Given the description of an element on the screen output the (x, y) to click on. 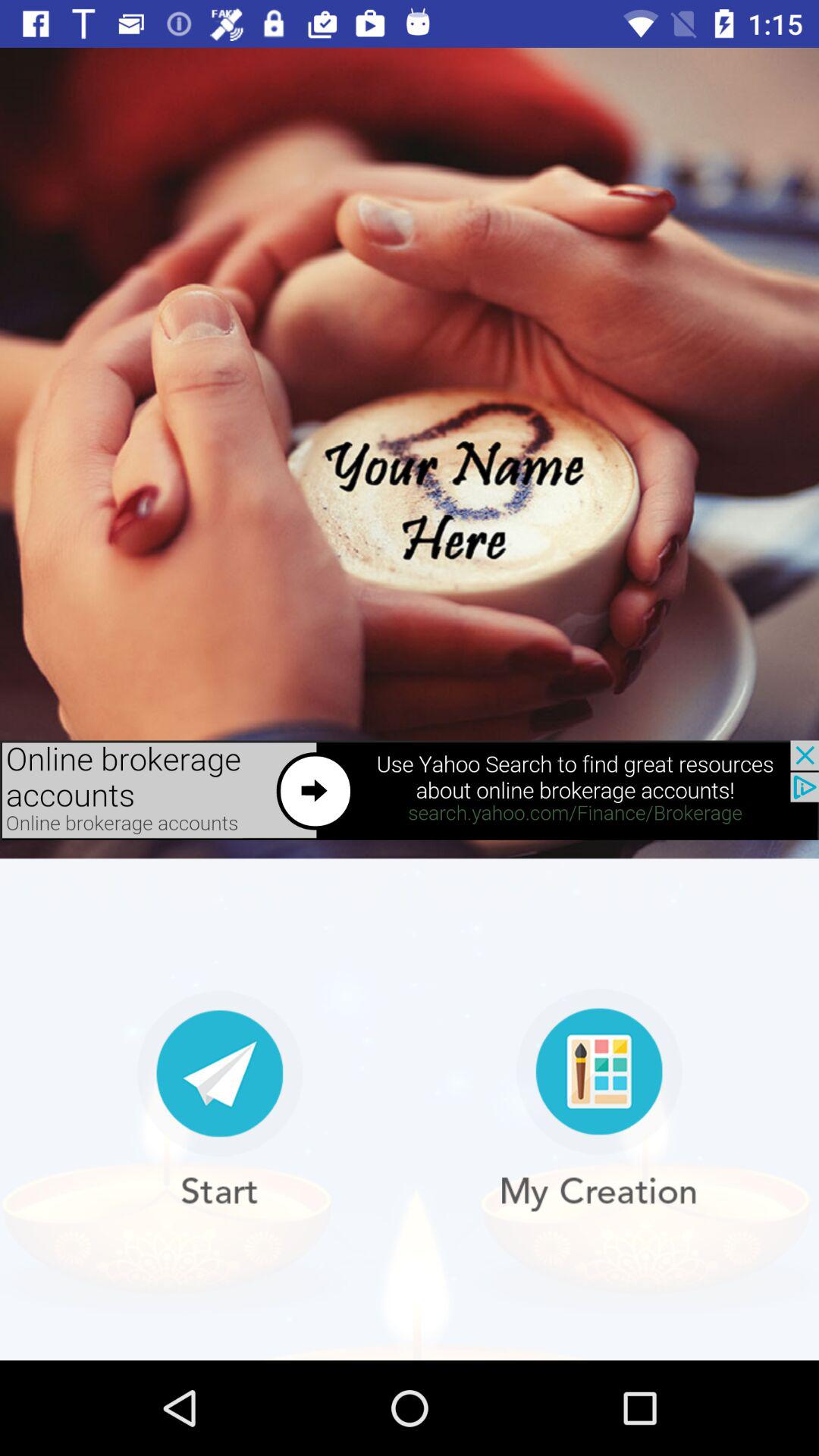
open advertisement (409, 790)
